Given the description of an element on the screen output the (x, y) to click on. 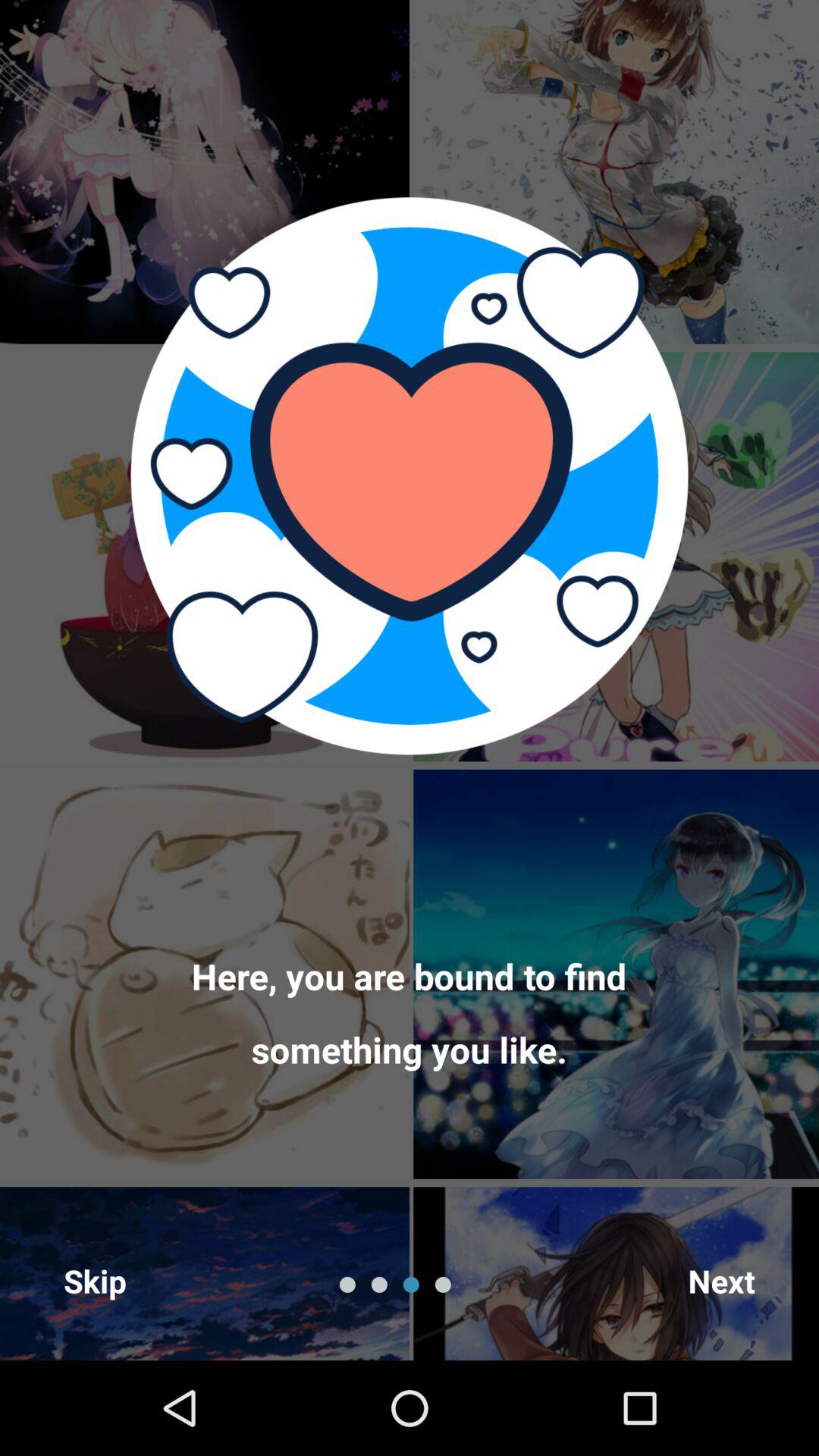
scroll until the next icon (721, 1280)
